Given the description of an element on the screen output the (x, y) to click on. 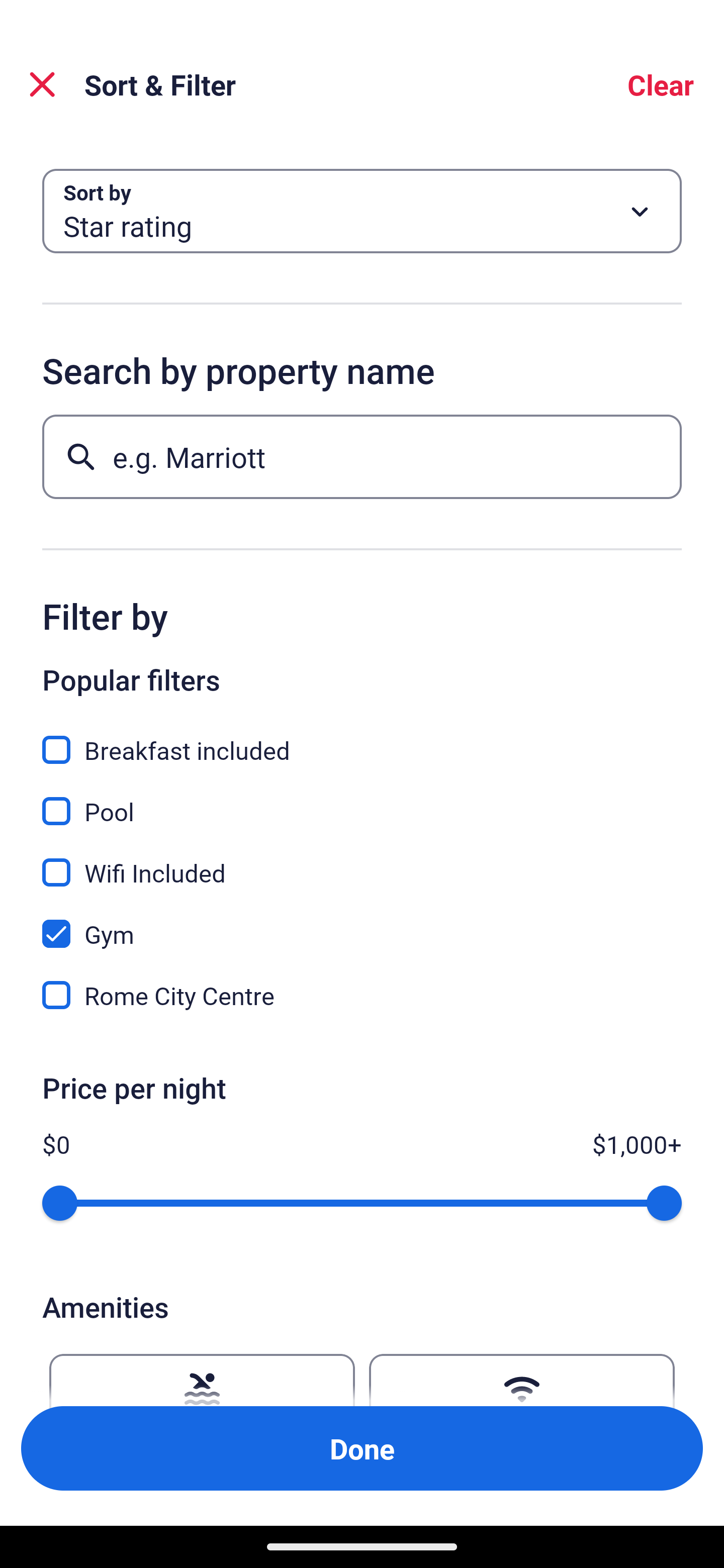
Close Sort and Filter (42, 84)
Clear (660, 84)
Sort by Button Star rating (361, 211)
e.g. Marriott Button (361, 455)
Breakfast included, Breakfast included (361, 738)
Pool, Pool (361, 800)
Wifi Included, Wifi Included (361, 861)
Gym, Gym (361, 922)
Rome City Centre, Rome City Centre (361, 995)
Apply and close Sort and Filter Done (361, 1448)
